Given the description of an element on the screen output the (x, y) to click on. 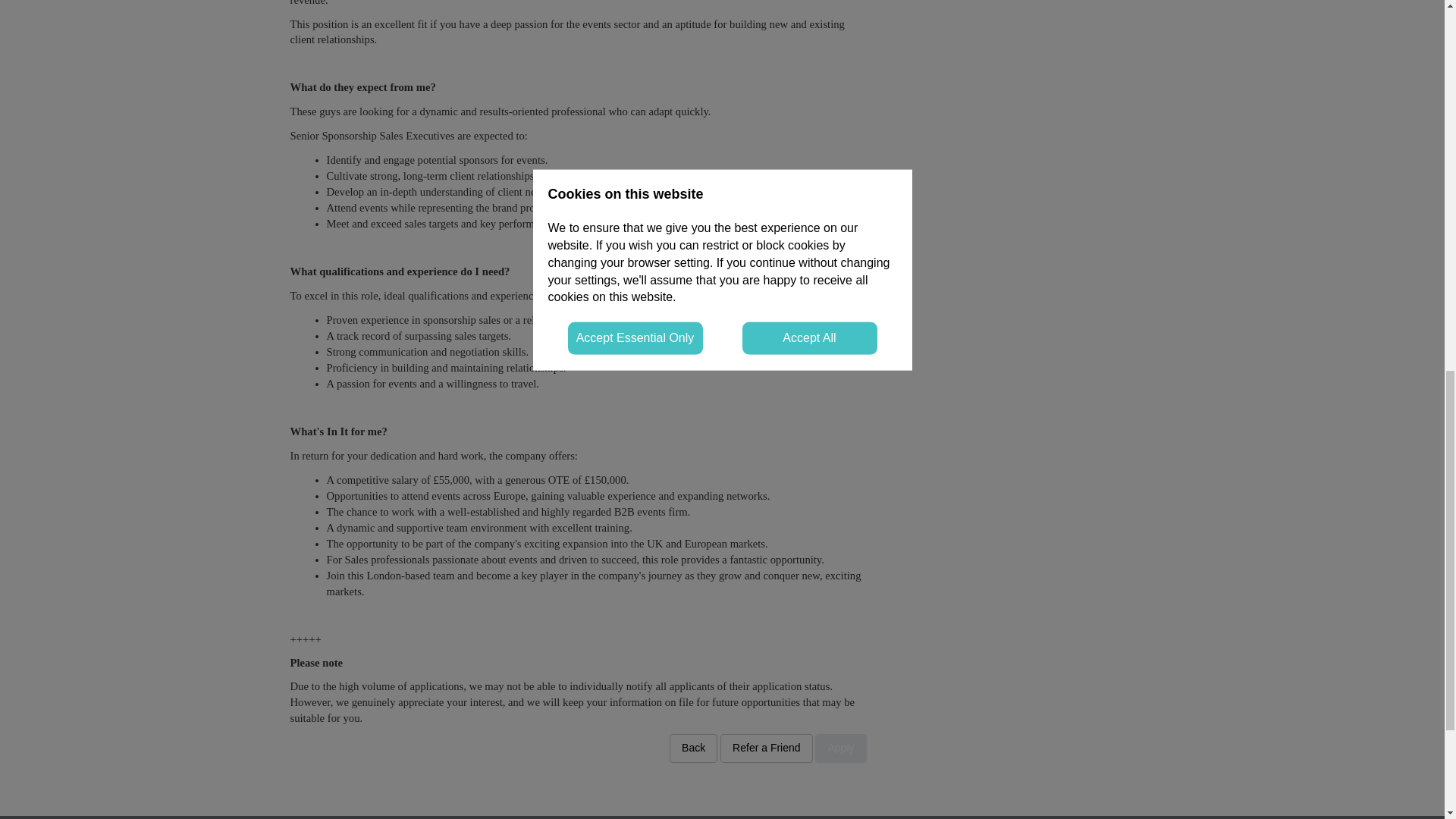
Apply (840, 747)
Refer a Friend (766, 747)
Back (693, 747)
Back (693, 747)
Refer a Friend (766, 747)
